Given the description of an element on the screen output the (x, y) to click on. 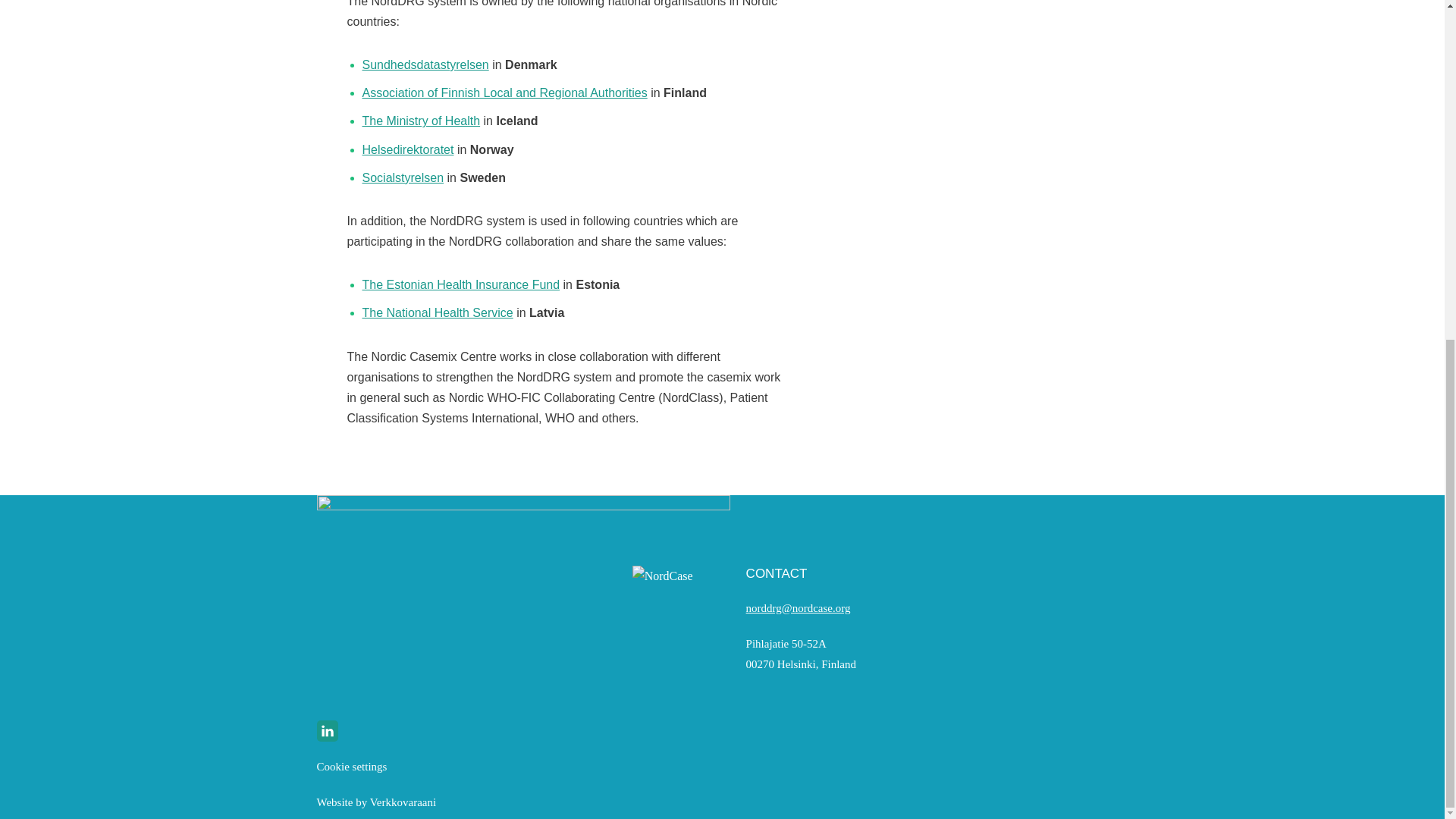
LinkedIn (327, 731)
Cookie settings (352, 766)
